Given the description of an element on the screen output the (x, y) to click on. 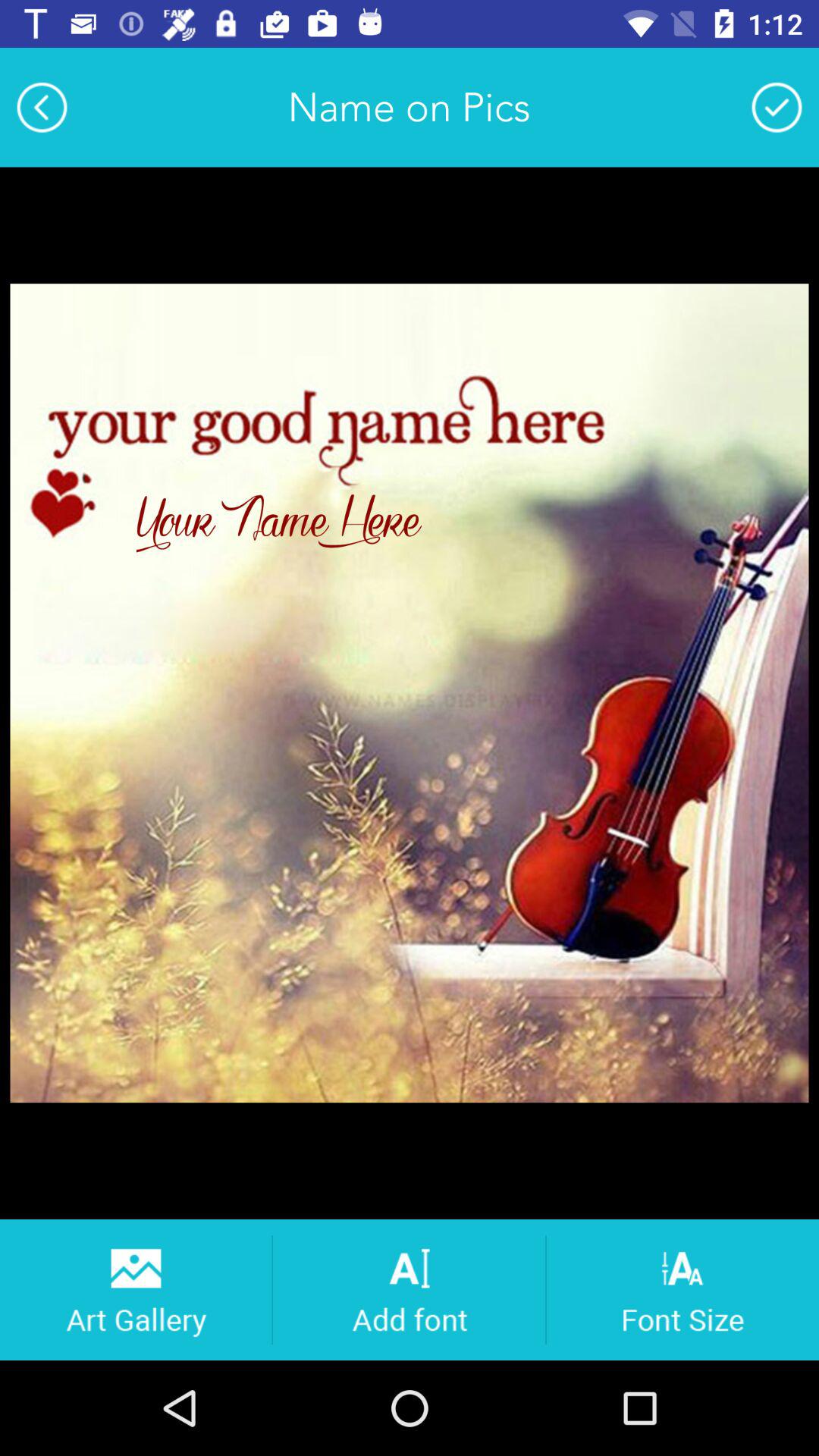
adjust font size (682, 1289)
